Given the description of an element on the screen output the (x, y) to click on. 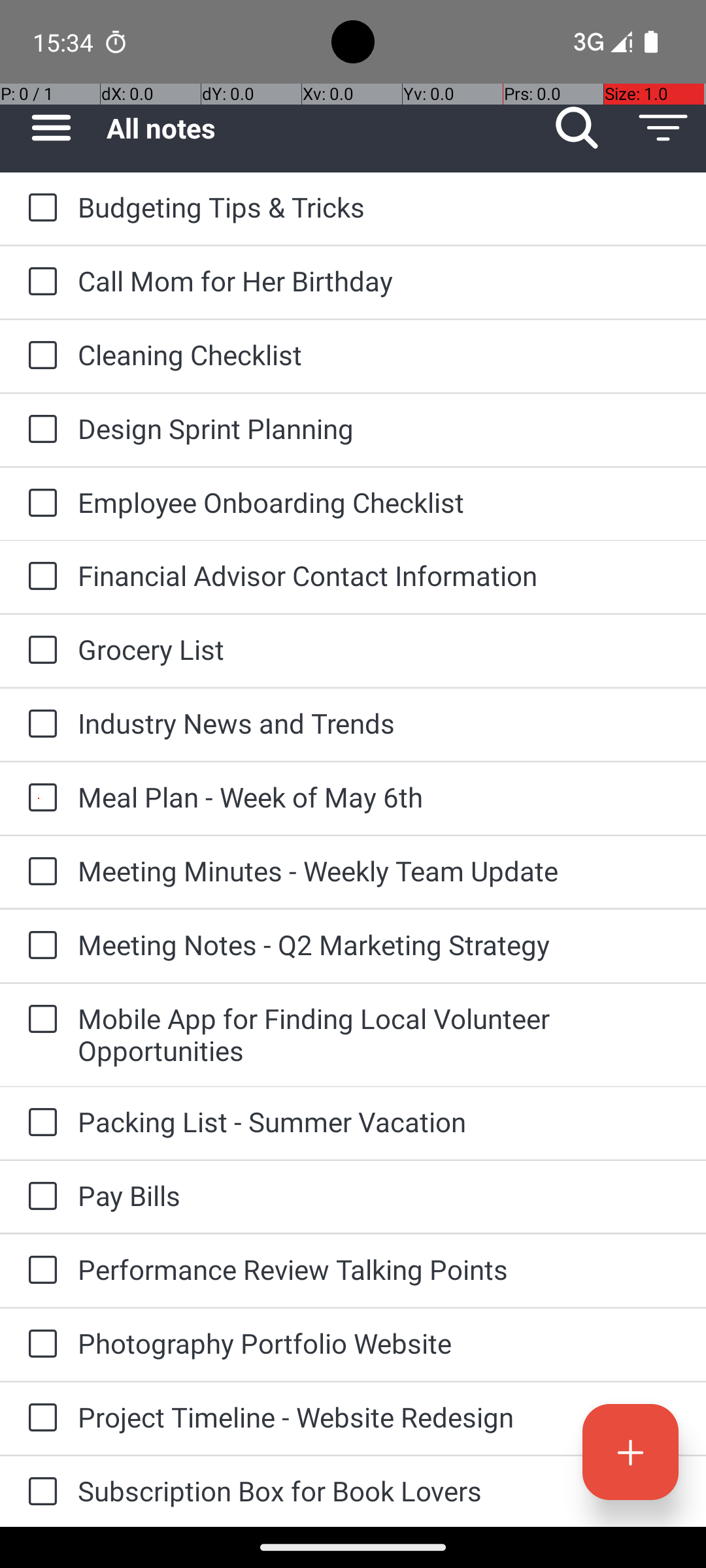
to-do: Budgeting Tips & Tricks Element type: android.widget.CheckBox (38, 208)
to-do: Call Mom for Her Birthday Element type: android.widget.CheckBox (38, 282)
Call Mom for Her Birthday Element type: android.widget.TextView (378, 280)
to-do: Cleaning Checklist Element type: android.widget.CheckBox (38, 356)
Cleaning Checklist Element type: android.widget.TextView (378, 354)
to-do: Design Sprint Planning Element type: android.widget.CheckBox (38, 429)
Design Sprint Planning Element type: android.widget.TextView (378, 427)
to-do: Employee Onboarding Checklist Element type: android.widget.CheckBox (38, 503)
Employee Onboarding Checklist Element type: android.widget.TextView (378, 501)
to-do: Grocery List Element type: android.widget.CheckBox (38, 650)
to-do: Industry News and Trends Element type: android.widget.CheckBox (38, 724)
Industry News and Trends Element type: android.widget.TextView (378, 722)
to-do: Meal Plan - Week of May 6th Element type: android.widget.CheckBox (38, 798)
Meal Plan - Week of May 6th Element type: android.widget.TextView (378, 796)
to-do: Meeting Minutes - Weekly Team Update Element type: android.widget.CheckBox (38, 872)
Meeting Minutes - Weekly Team Update Element type: android.widget.TextView (378, 870)
to-do: Meeting Notes - Q2 Marketing Strategy Element type: android.widget.CheckBox (38, 945)
Meeting Notes - Q2 Marketing Strategy Element type: android.widget.TextView (378, 944)
to-do: Mobile App for Finding Local Volunteer Opportunities Element type: android.widget.CheckBox (38, 1019)
Mobile App for Finding Local Volunteer Opportunities Element type: android.widget.TextView (378, 1033)
to-do: Packing List - Summer Vacation Element type: android.widget.CheckBox (38, 1123)
Packing List - Summer Vacation Element type: android.widget.TextView (378, 1121)
to-do: Pay Bills Element type: android.widget.CheckBox (38, 1196)
to-do: Performance Review Talking Points Element type: android.widget.CheckBox (38, 1270)
Performance Review Talking Points Element type: android.widget.TextView (378, 1268)
to-do: Photography Portfolio Website Element type: android.widget.CheckBox (38, 1344)
Photography Portfolio Website Element type: android.widget.TextView (378, 1342)
to-do: Project Timeline - Website Redesign Element type: android.widget.CheckBox (38, 1418)
Project Timeline - Website Redesign Element type: android.widget.TextView (378, 1416)
to-do: Subscription Box for Book Lovers Element type: android.widget.CheckBox (38, 1491)
Subscription Box for Book Lovers Element type: android.widget.TextView (378, 1490)
